Given the description of an element on the screen output the (x, y) to click on. 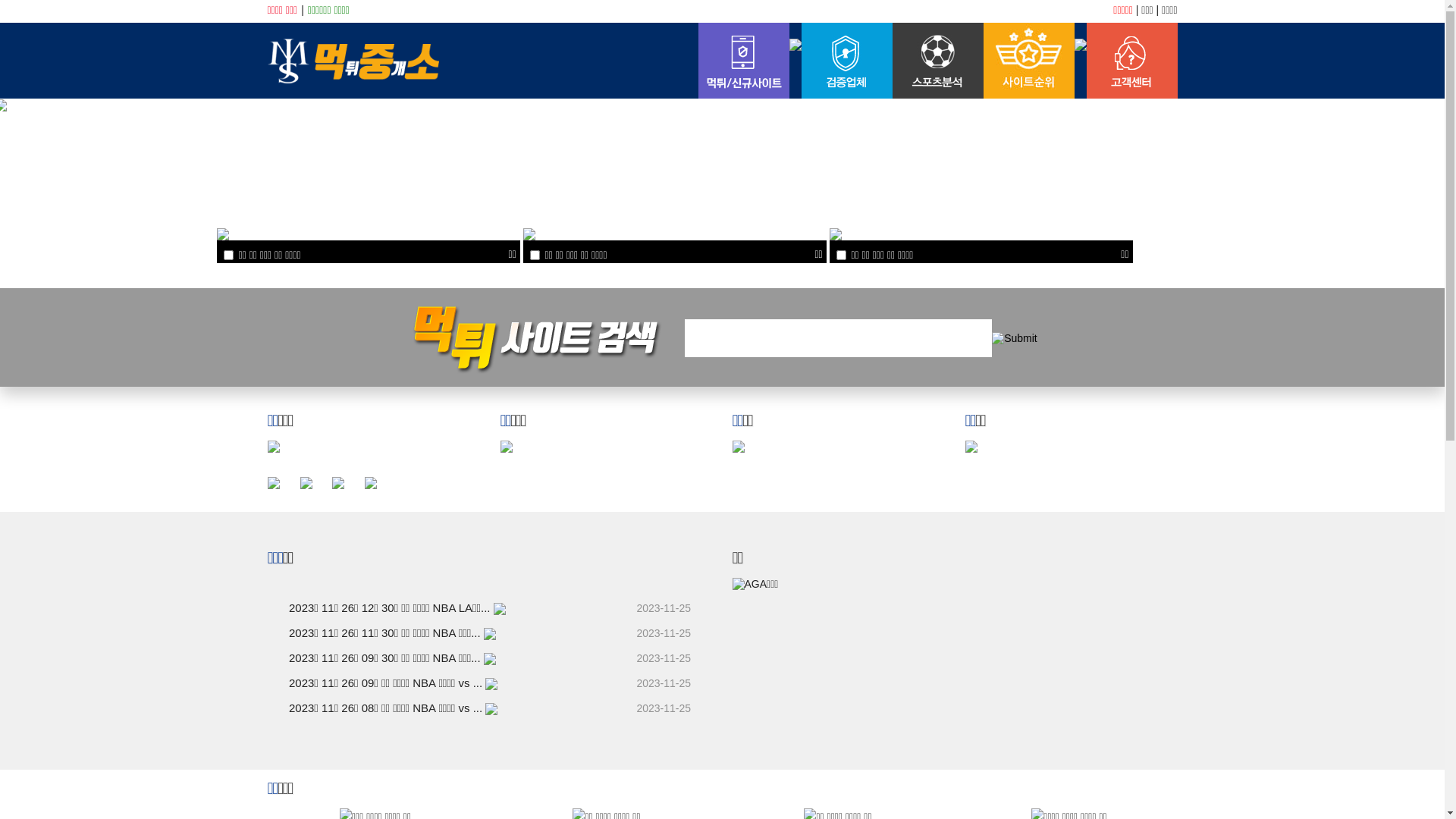
| Element type: text (302, 9)
